Given the description of an element on the screen output the (x, y) to click on. 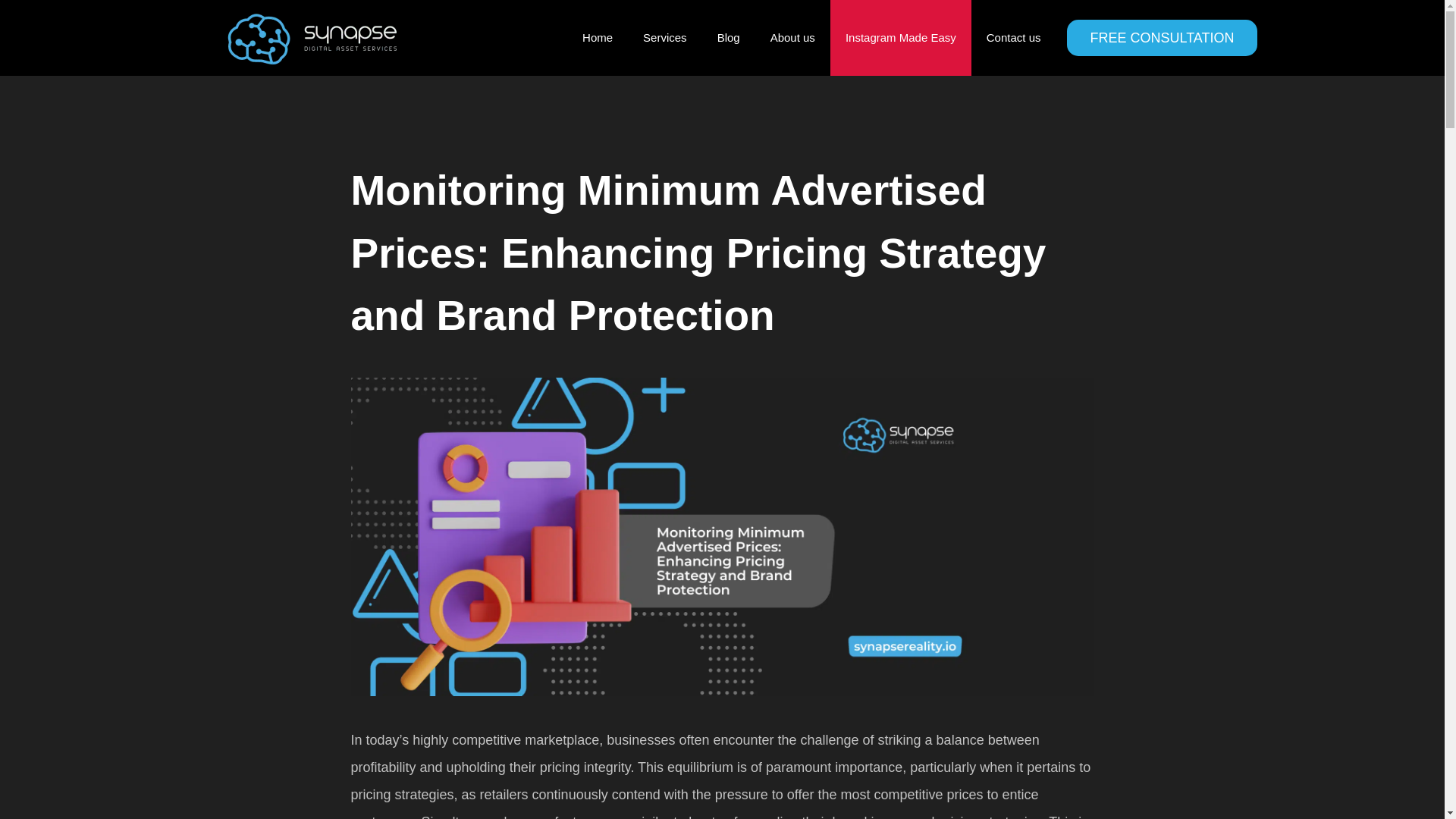
Services (664, 38)
Synapse All In One Digital Agency Logo - Synapse (311, 38)
